Given the description of an element on the screen output the (x, y) to click on. 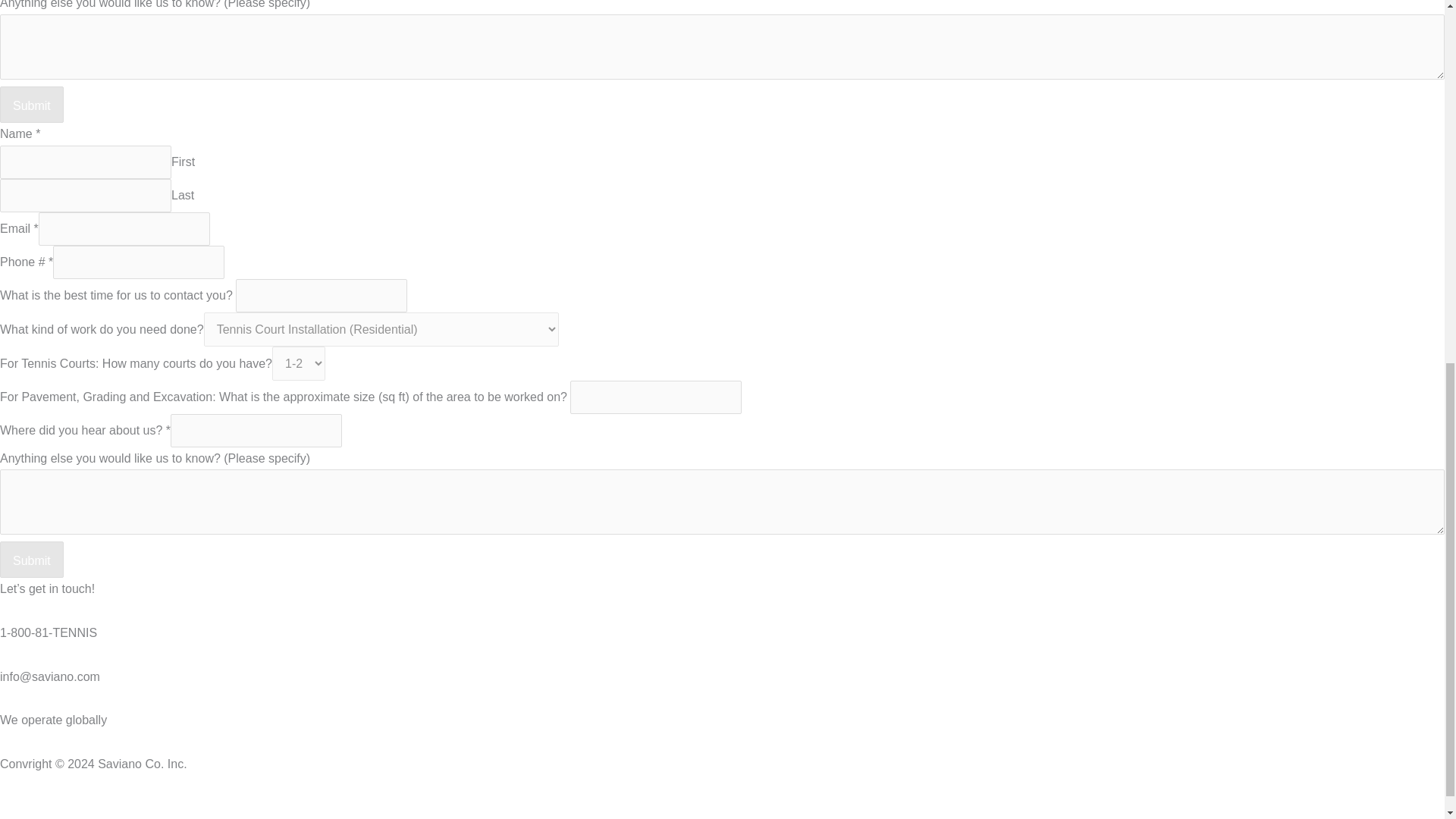
Submit (32, 559)
Submit (32, 104)
